Given the description of an element on the screen output the (x, y) to click on. 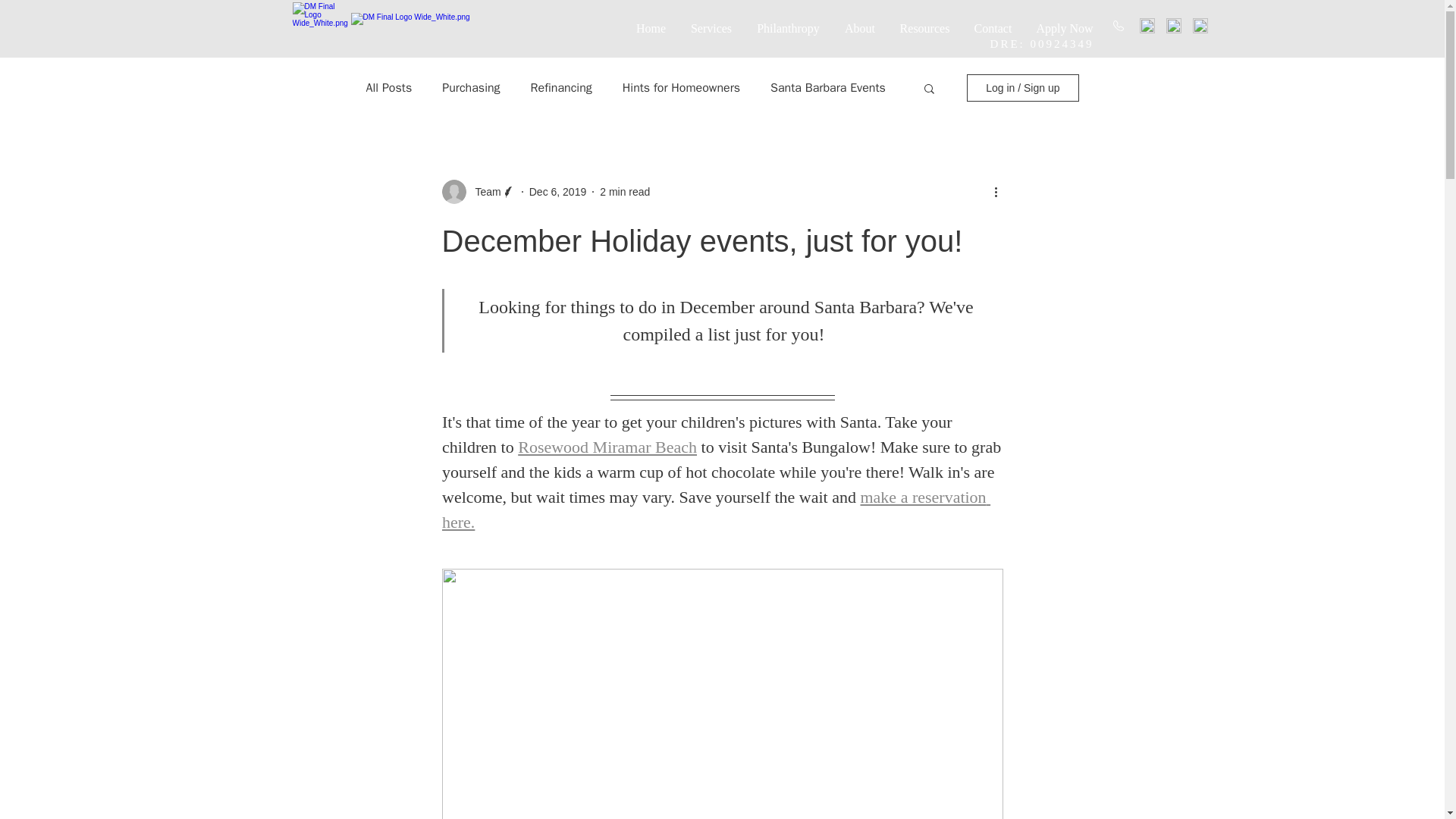
Home (650, 28)
About (860, 28)
make a reservation here. (715, 509)
Refinancing (561, 88)
Apply Now (1064, 28)
Team (482, 191)
Dec 6, 2019 (557, 191)
Hints for Homeowners (681, 88)
2 min read (624, 191)
Santa Barbara Events (827, 88)
